Given the description of an element on the screen output the (x, y) to click on. 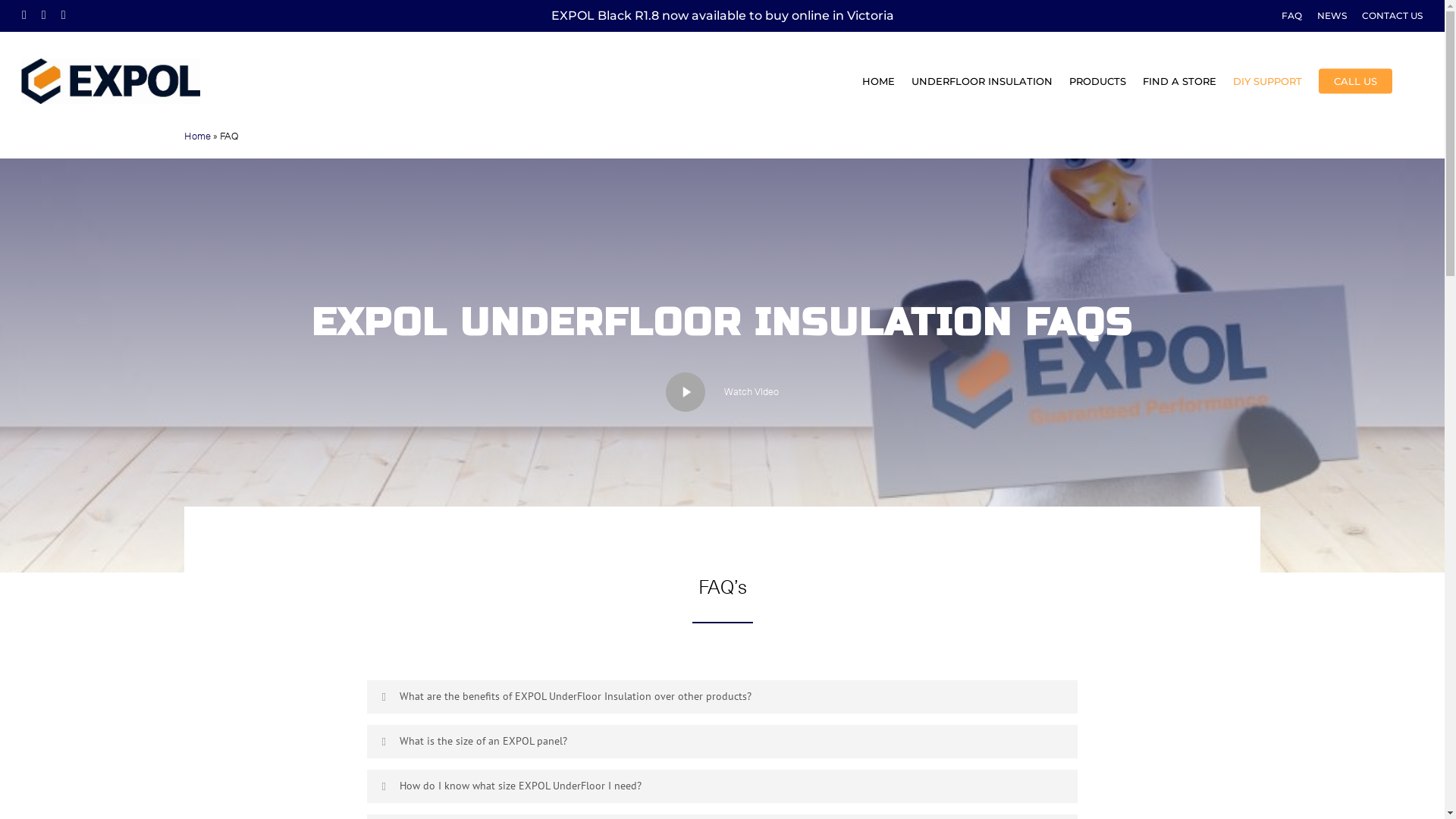
DIY SUPPORT Element type: text (1267, 81)
Home Element type: text (196, 136)
FAQ Element type: text (1291, 15)
CALL US Element type: text (1355, 81)
PRODUCTS Element type: text (1097, 81)
EXPOL Black R1.8 now available to buy online in Victoria Element type: text (721, 15)
HOME Element type: text (878, 81)
What is the size of an EXPOL panel? Element type: text (722, 741)
How do I know what size EXPOL UnderFloor I need? Element type: text (722, 786)
Watch Video Element type: text (721, 391)
NEWS Element type: text (1331, 15)
FIND A STORE Element type: text (1179, 81)
UNDERFLOOR INSULATION Element type: text (981, 81)
CONTACT US Element type: text (1391, 15)
